Given the description of an element on the screen output the (x, y) to click on. 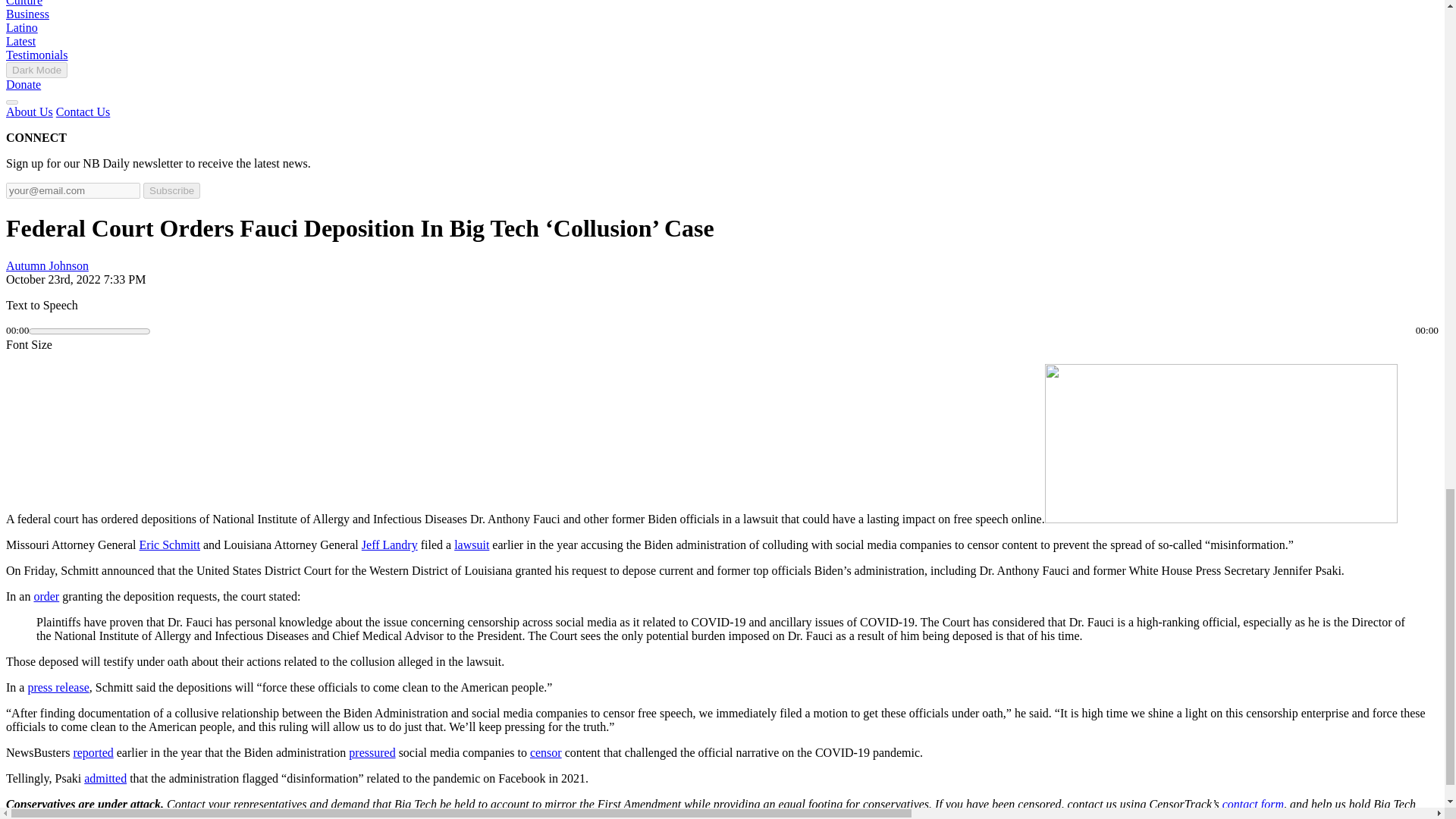
Testimonials (36, 54)
Dark Mode (35, 69)
Donate (22, 83)
